Given the description of an element on the screen output the (x, y) to click on. 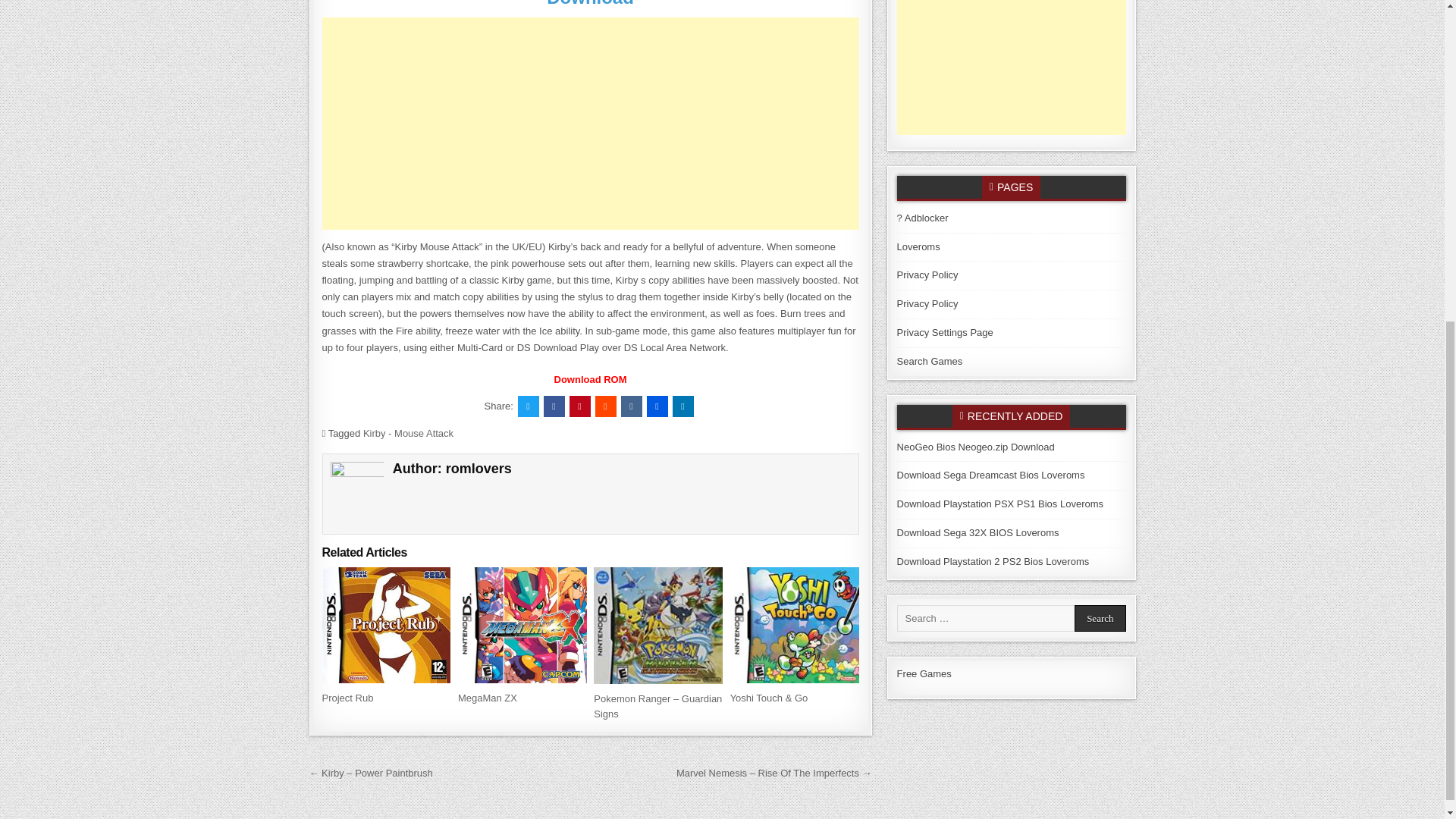
Share this on Pinterest (579, 405)
Share this on Linkedin (682, 405)
Tweet This! (527, 405)
Download ROM (590, 378)
Kirby - Mouse Attack (407, 432)
Project Rub (346, 697)
Search (1099, 618)
MegaMan ZX (487, 697)
Share this on Digg (656, 405)
Search (1099, 618)
Download (590, 3)
Permanent Link to Project Rub (385, 625)
Permanent Link to MegaMan ZX (522, 625)
Permanent Link to MegaMan ZX (487, 697)
Permanent Link to Project Rub (346, 697)
